Given the description of an element on the screen output the (x, y) to click on. 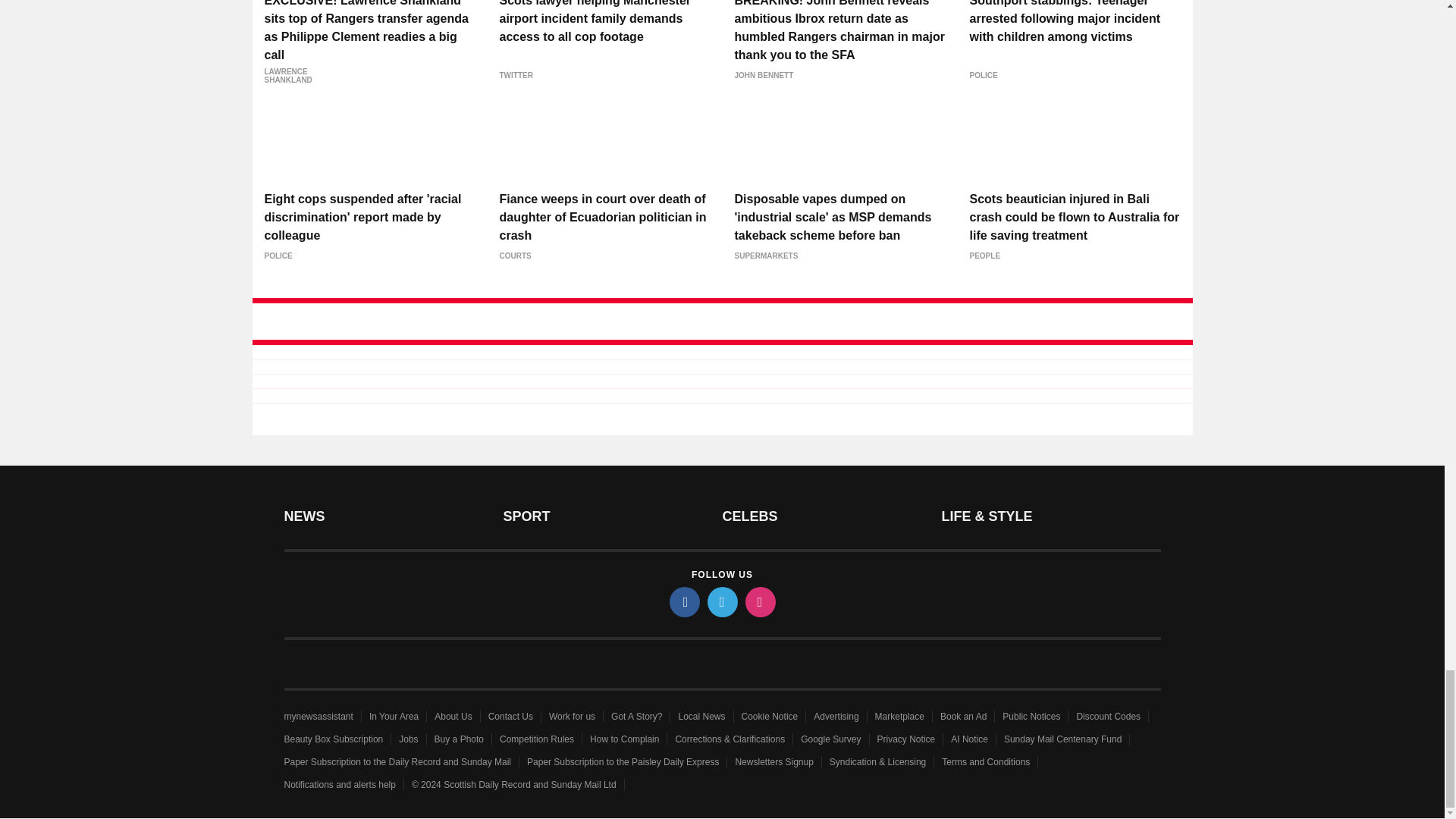
instagram (759, 602)
facebook (683, 602)
twitter (721, 602)
